Given the description of an element on the screen output the (x, y) to click on. 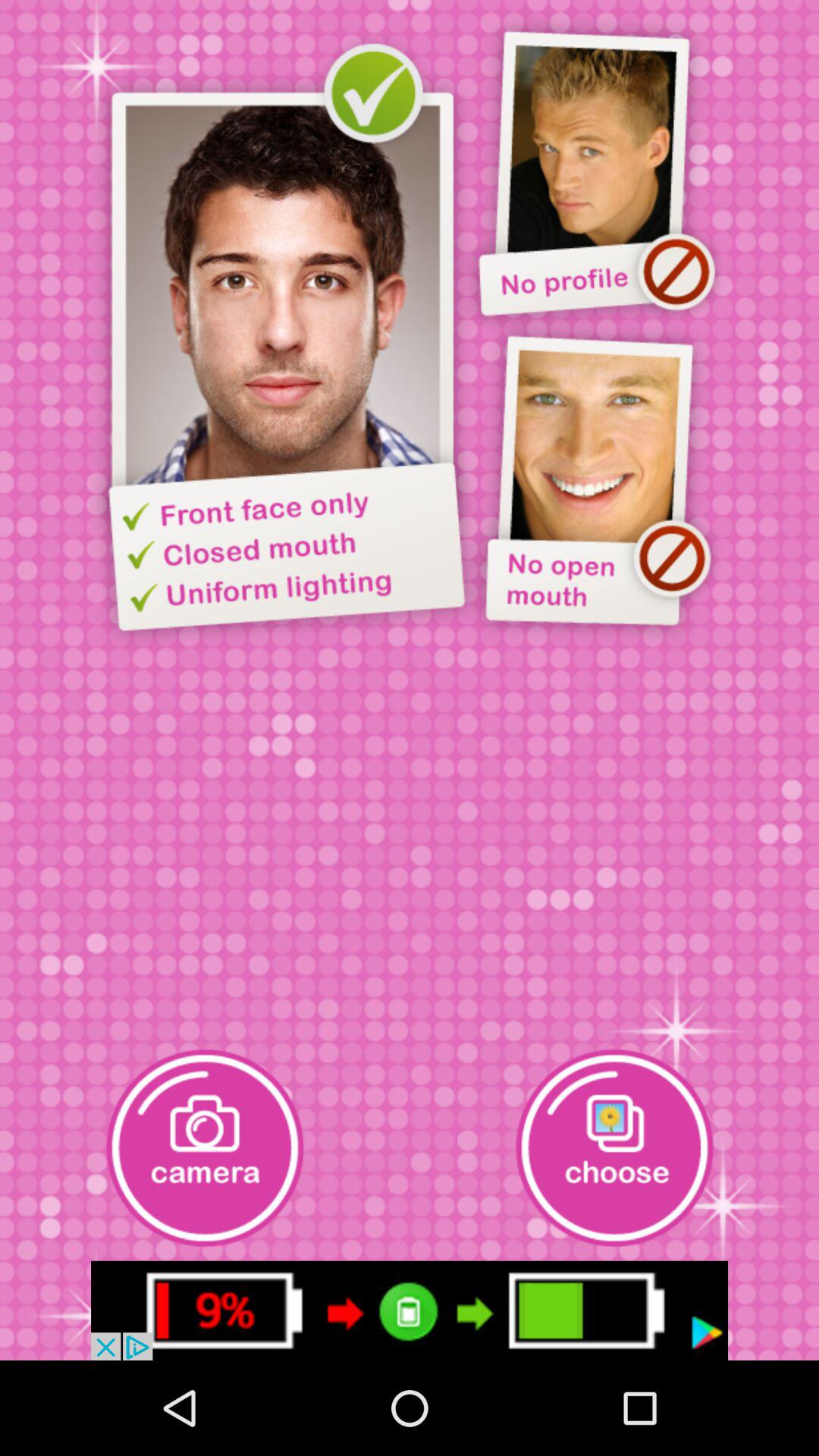
choose image (613, 1147)
